Given the description of an element on the screen output the (x, y) to click on. 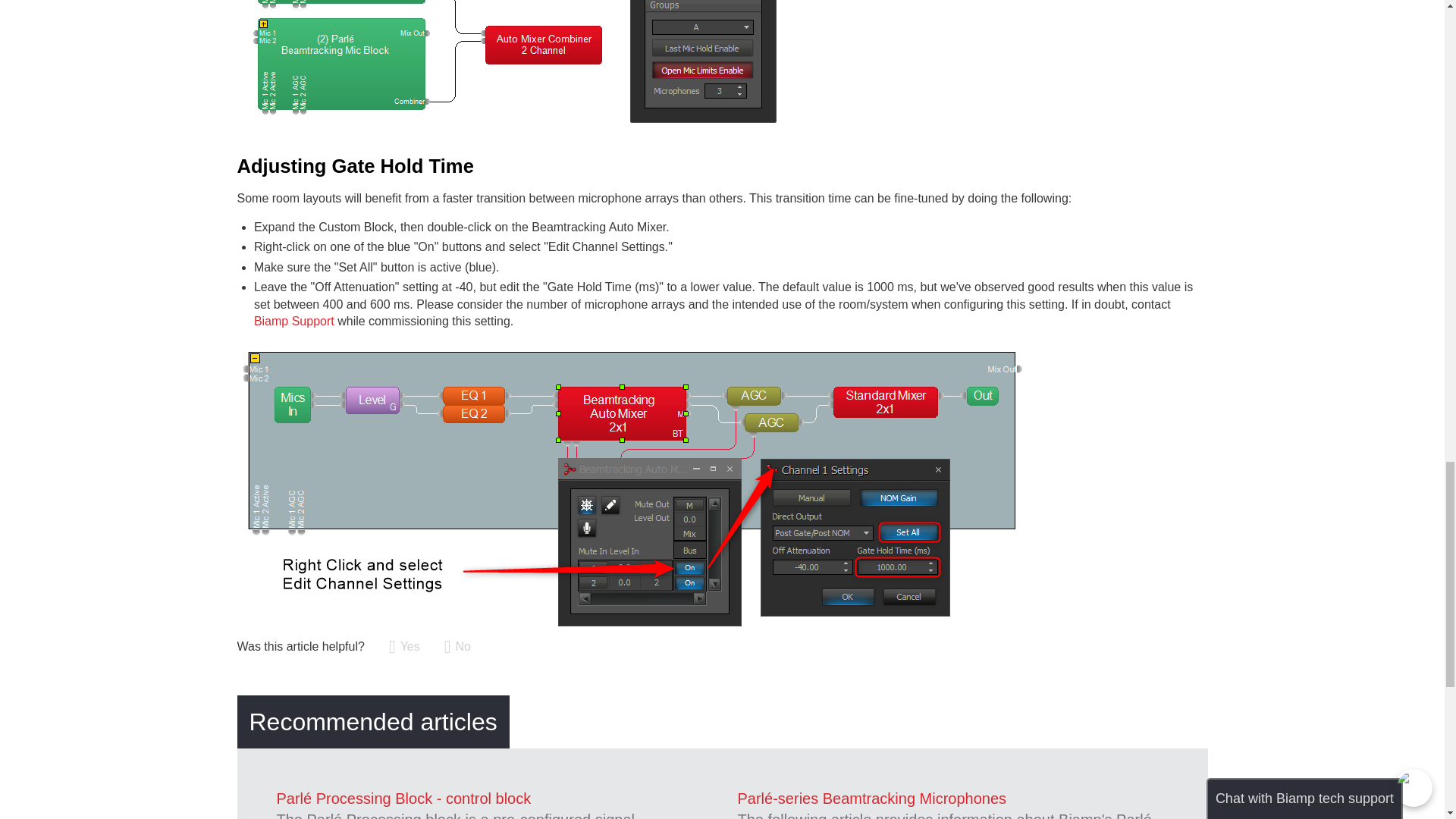
No (457, 646)
Custom blocks combined.png (424, 120)
Yes (404, 646)
Biamp Support (293, 320)
AMixerCombiner.png (702, 120)
